Given the description of an element on the screen output the (x, y) to click on. 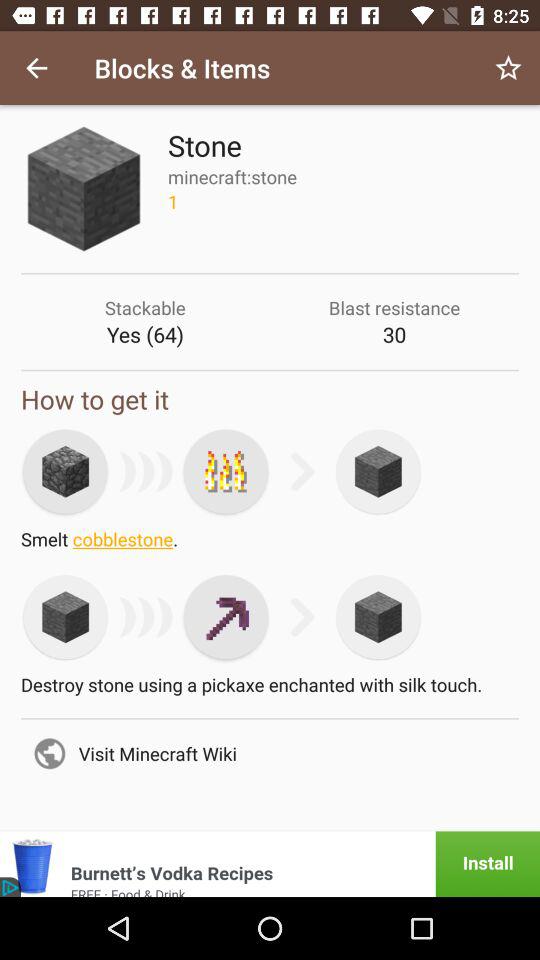
enlarge picture (65, 471)
